Given the description of an element on the screen output the (x, y) to click on. 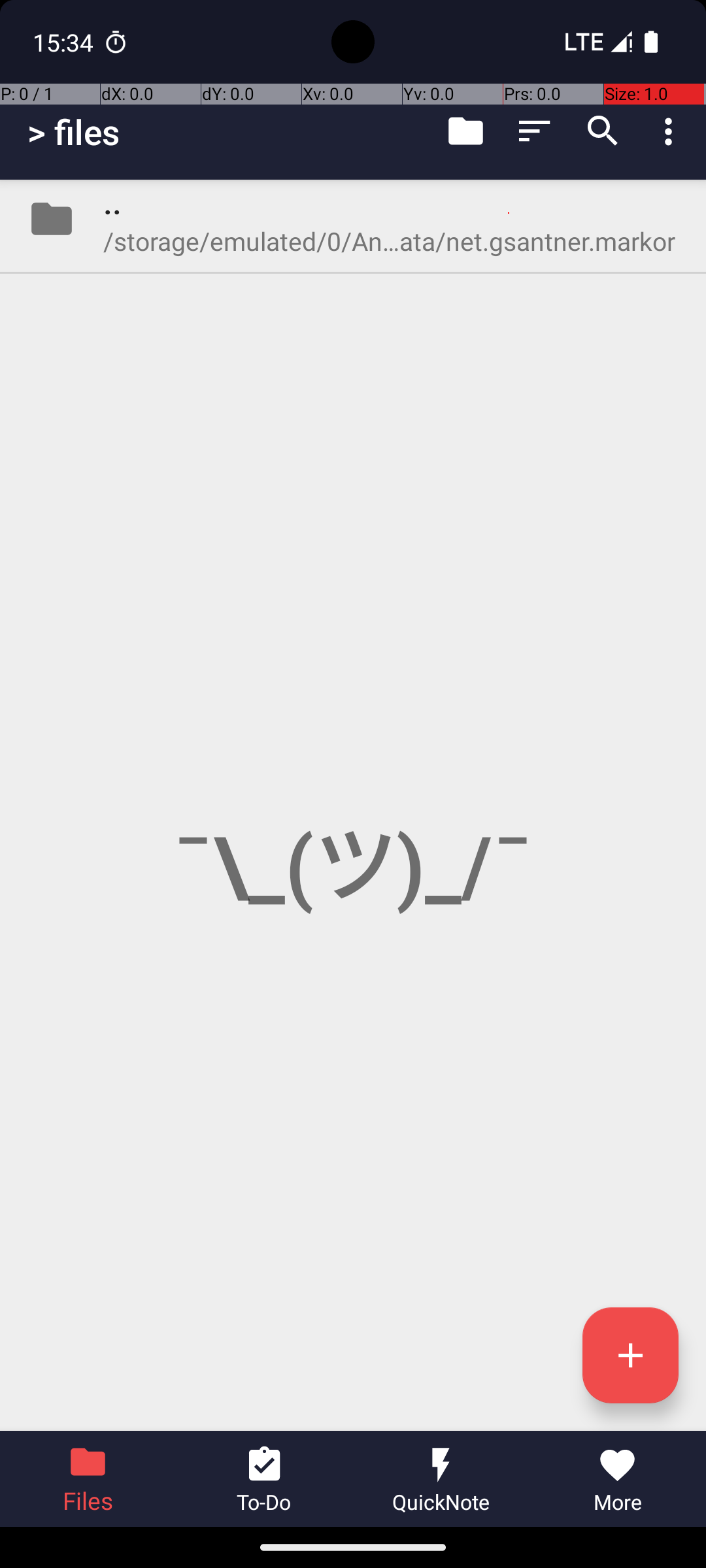
> files Element type: android.widget.TextView (73, 131)
Folder .. /storage Element type: android.widget.LinearLayout (353, 218)
